Given the description of an element on the screen output the (x, y) to click on. 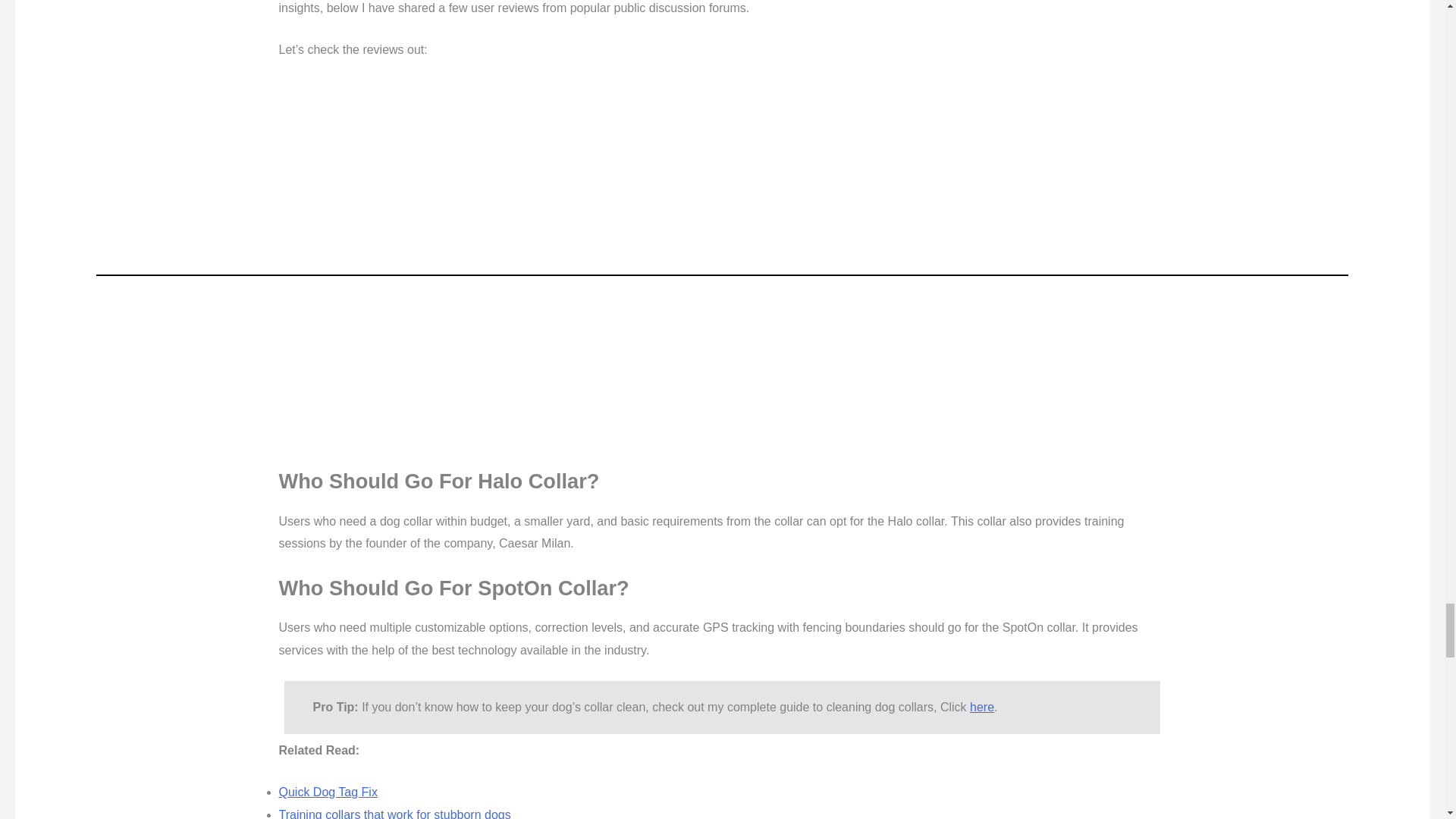
Training collars that work for stubborn dogs (395, 813)
here (981, 707)
Quick Dog Tag Fix (328, 791)
